Given the description of an element on the screen output the (x, y) to click on. 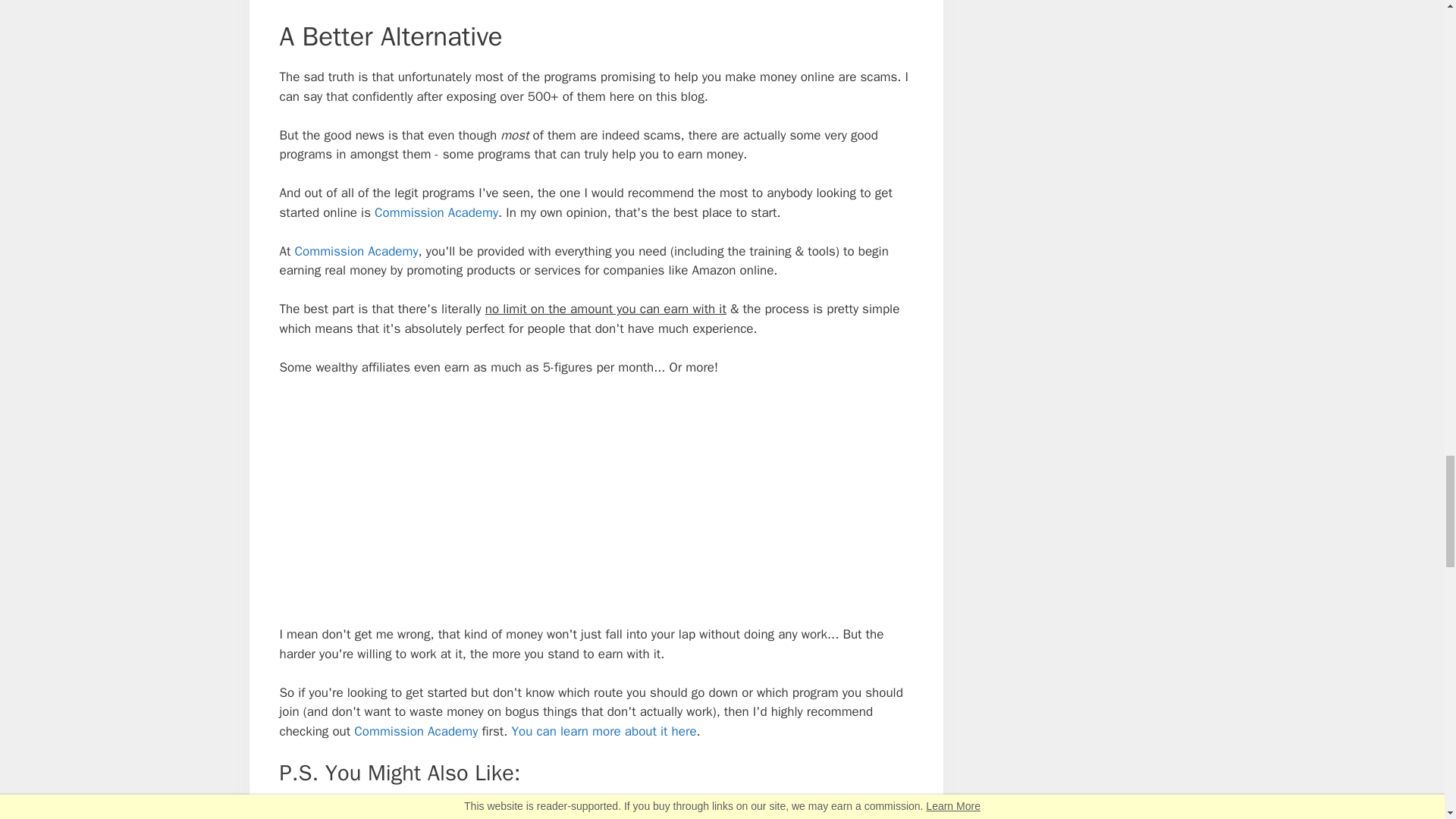
Commission Academy (415, 731)
You can learn more about it here (603, 731)
Commission Academy (357, 251)
Commission Academy (435, 212)
